Given the description of an element on the screen output the (x, y) to click on. 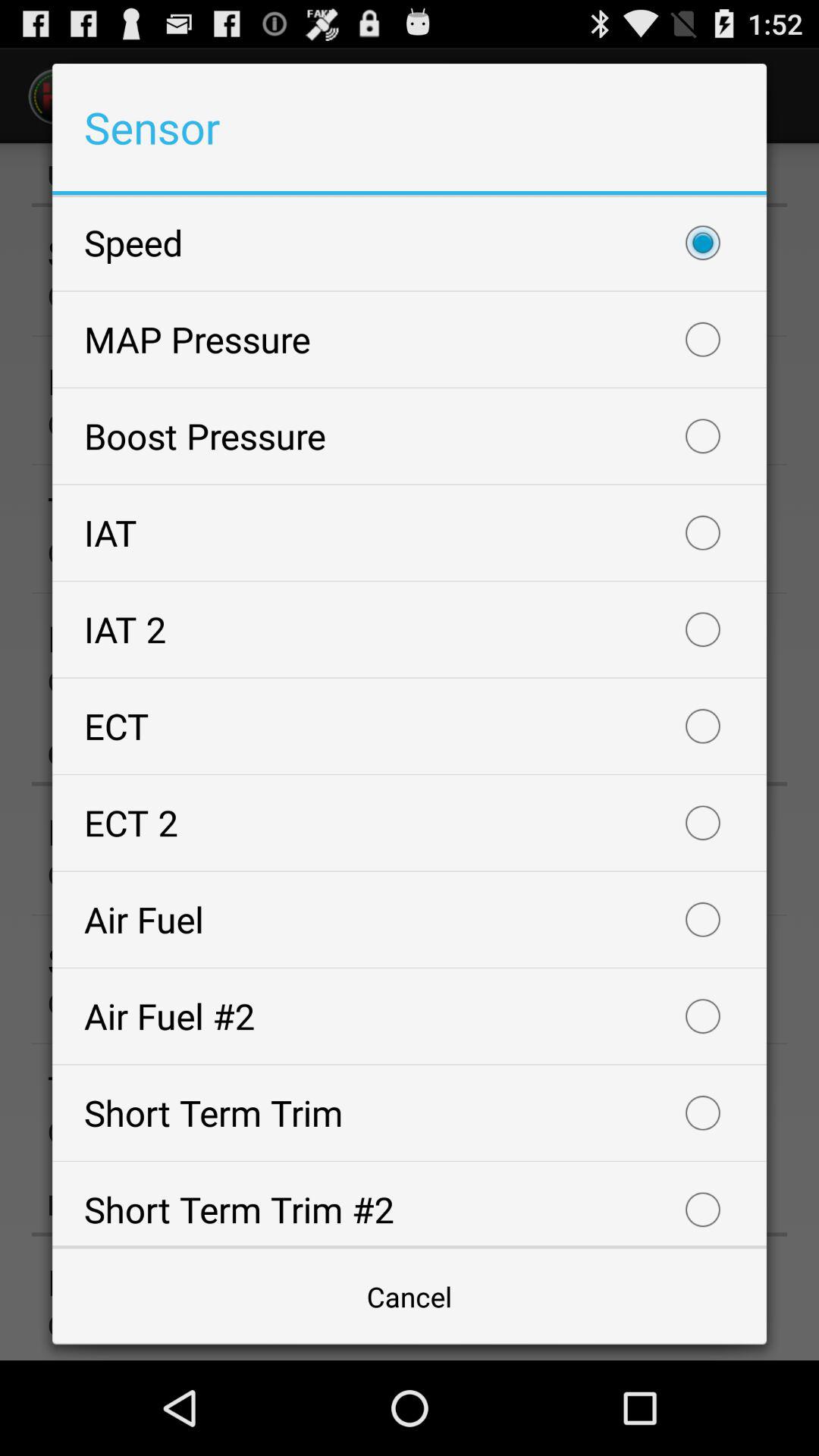
launch the item below the short term trim icon (409, 1296)
